Given the description of an element on the screen output the (x, y) to click on. 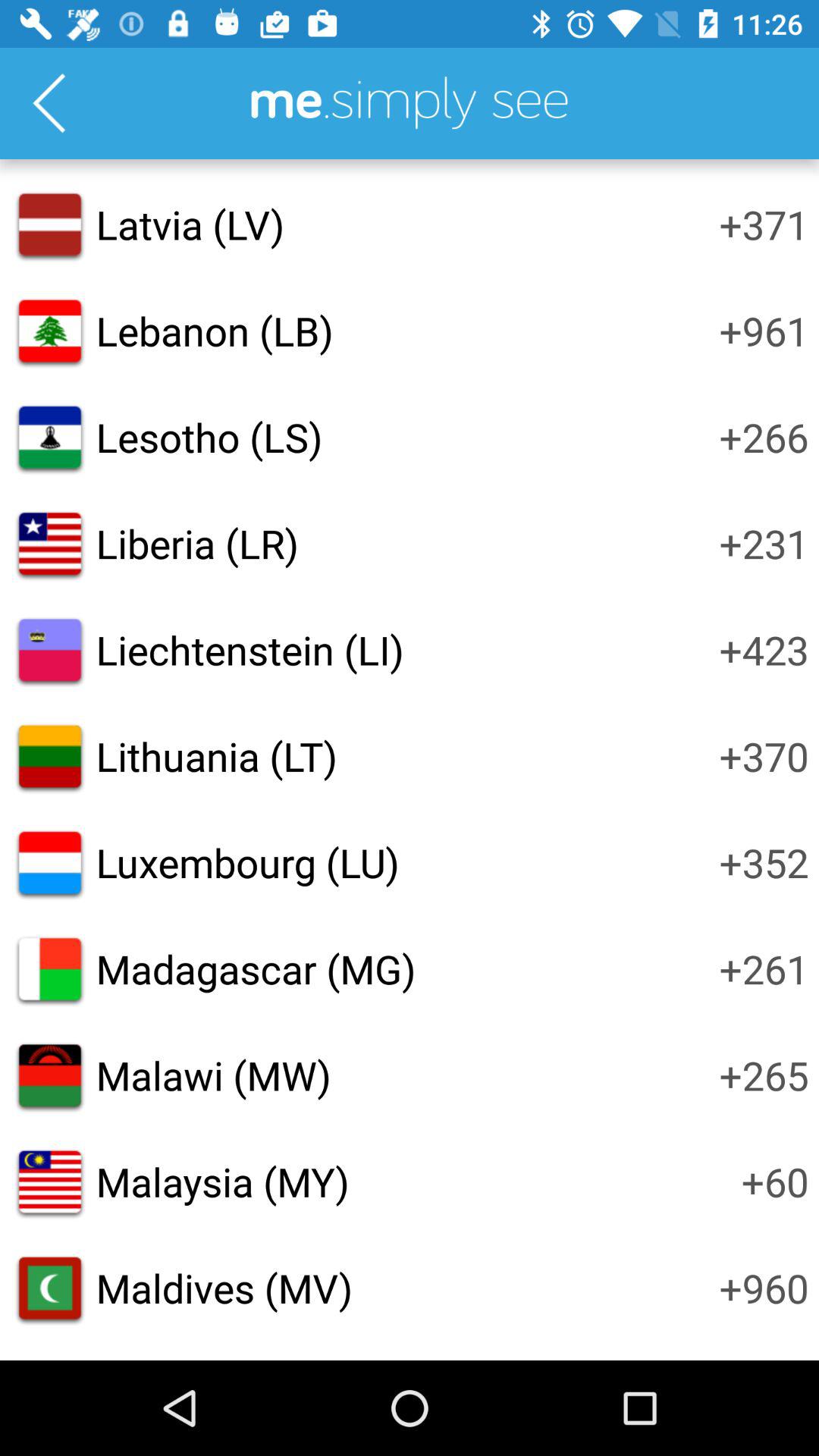
open the icon below the +352 (763, 968)
